Given the description of an element on the screen output the (x, y) to click on. 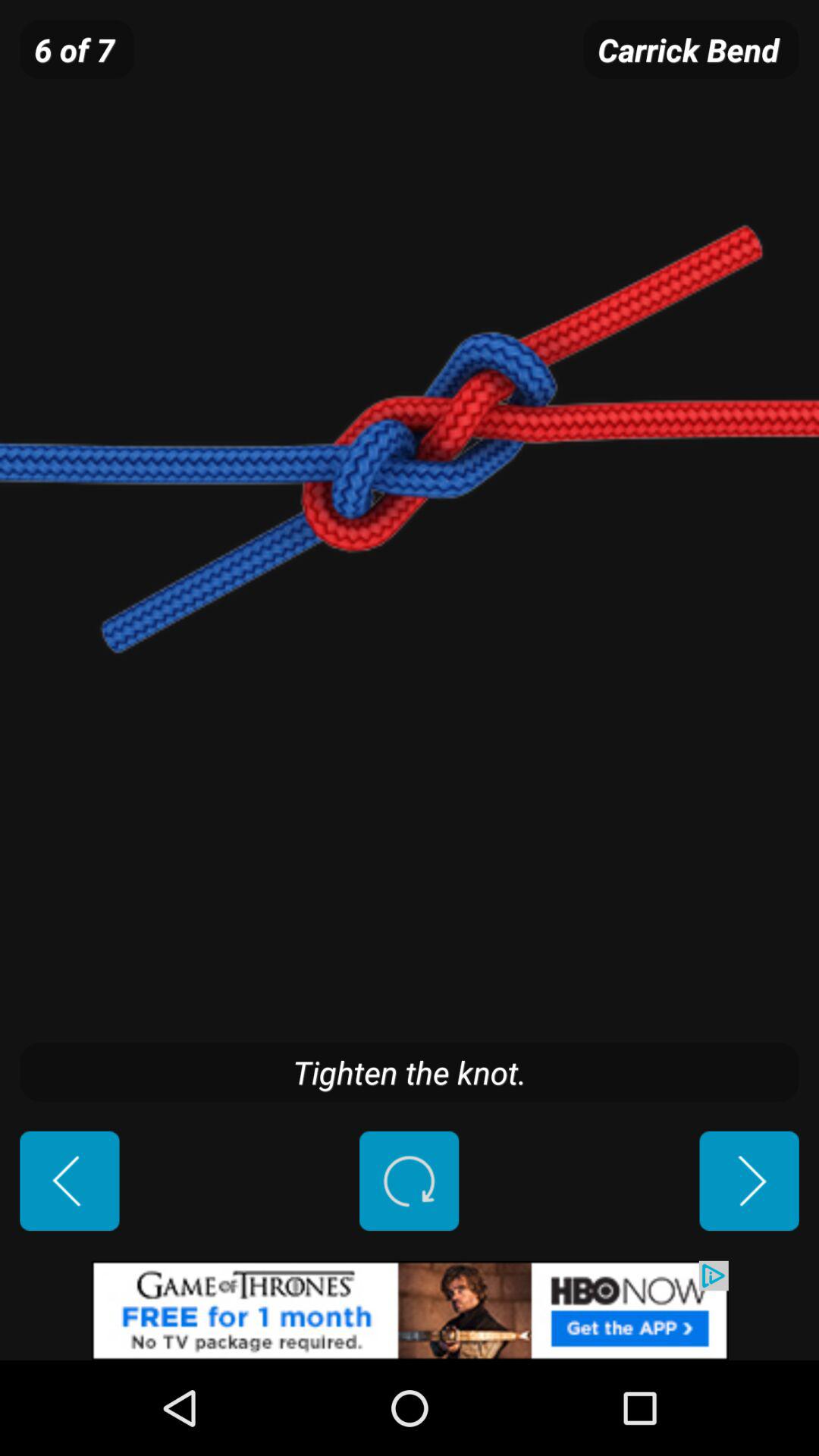
refresh button (408, 1180)
